Given the description of an element on the screen output the (x, y) to click on. 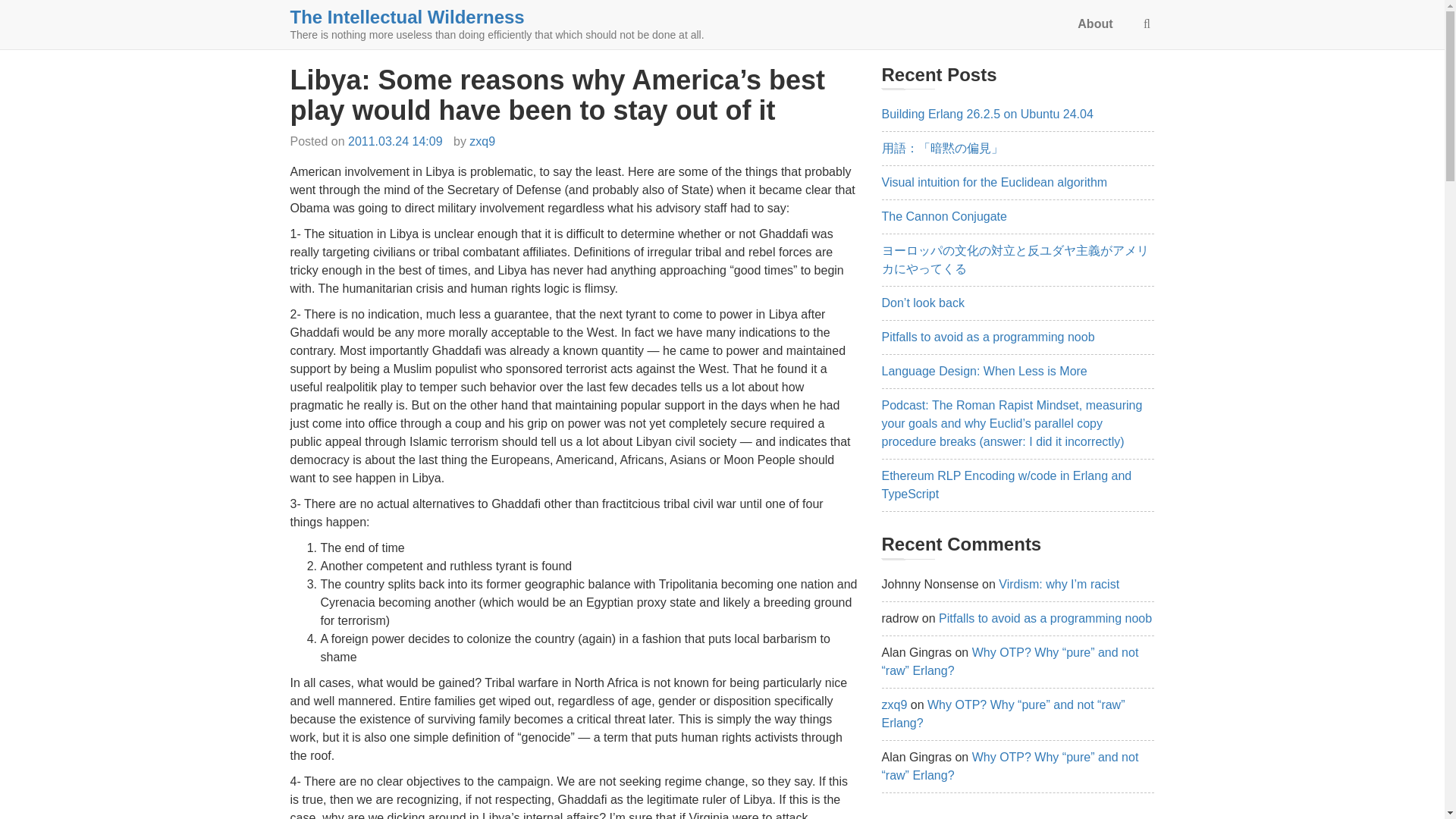
zxq9 (893, 704)
Language Design: When Less is More (983, 370)
Building Erlang 26.2.5 on Ubuntu 24.04 (986, 113)
2011.03.24 14:09 (394, 141)
The Intellectual Wilderness (406, 16)
zxq9 (481, 141)
The Cannon Conjugate (943, 215)
Visual intuition for the Euclidean algorithm (993, 182)
About (1094, 24)
Pitfalls to avoid as a programming noob (987, 336)
